Given the description of an element on the screen output the (x, y) to click on. 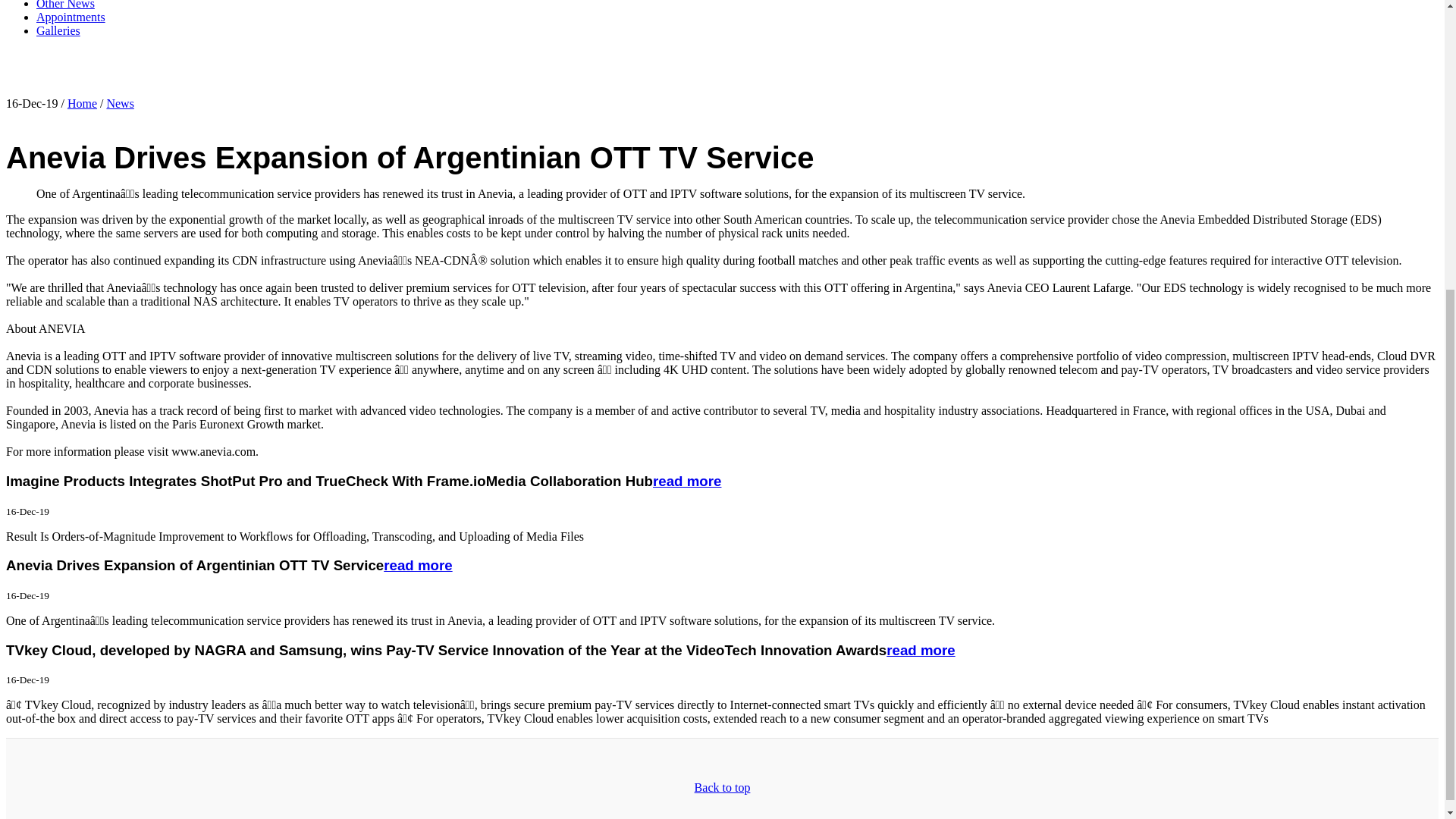
Galleries (58, 30)
Home (81, 103)
Other News (65, 4)
read more (417, 565)
read more (920, 650)
Back to top (722, 787)
News (119, 103)
Appointments (70, 16)
read more (686, 480)
